Given the description of an element on the screen output the (x, y) to click on. 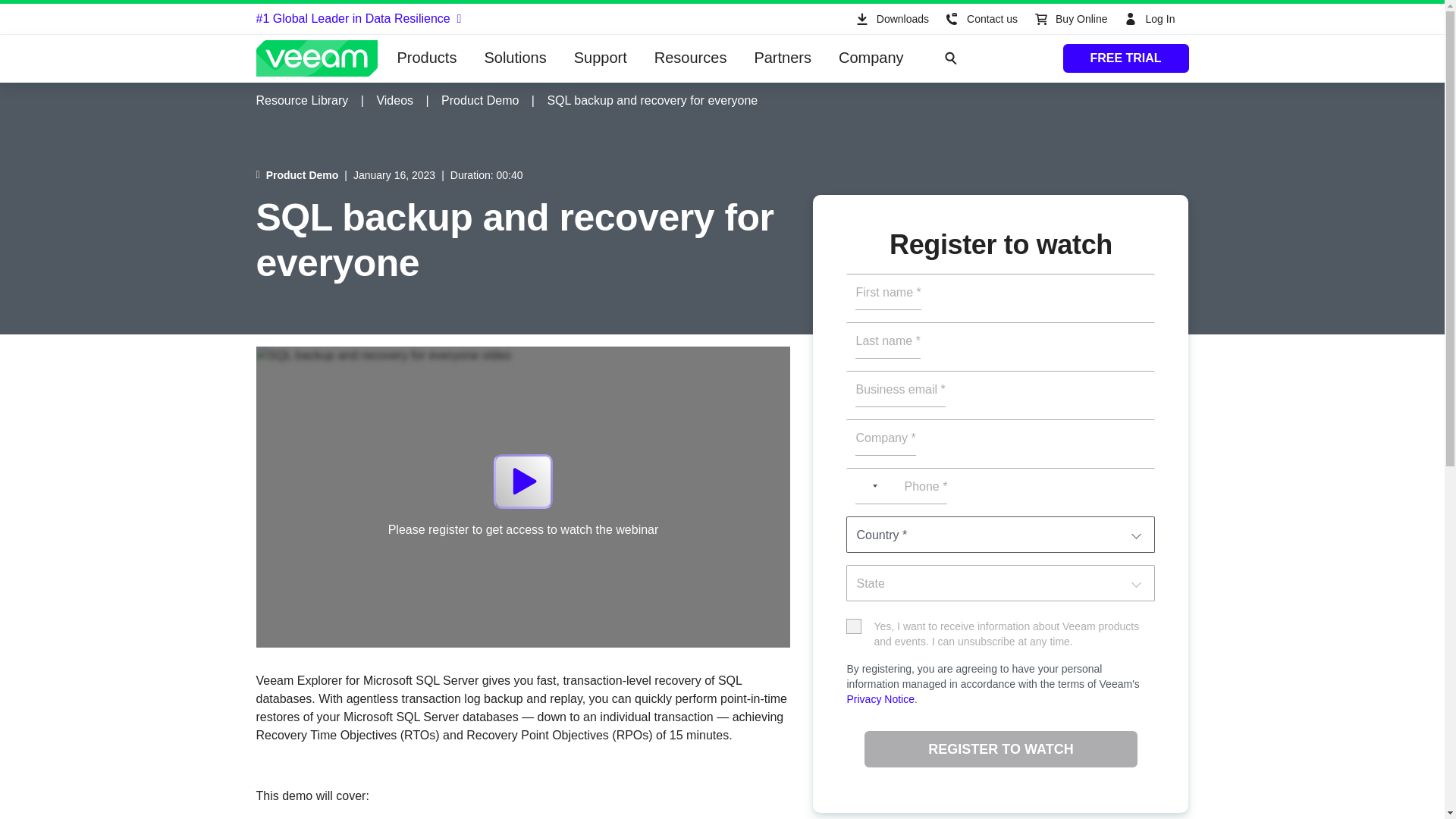
Log In (1151, 19)
Downloads (890, 19)
Buy Online (1070, 19)
Products (427, 58)
Contact us (980, 19)
Unknown (864, 485)
